Given the description of an element on the screen output the (x, y) to click on. 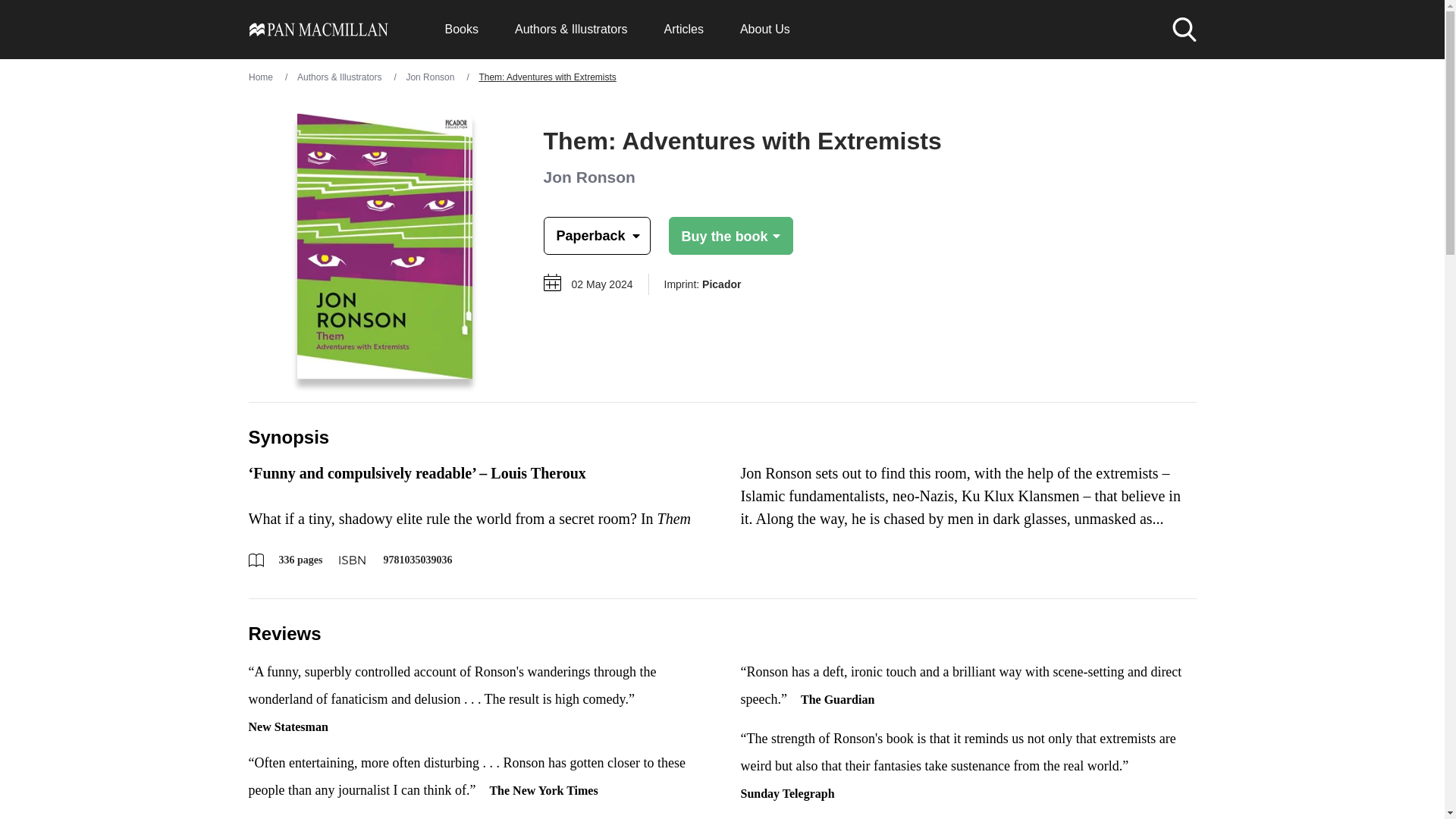
Books (460, 29)
